Given the description of an element on the screen output the (x, y) to click on. 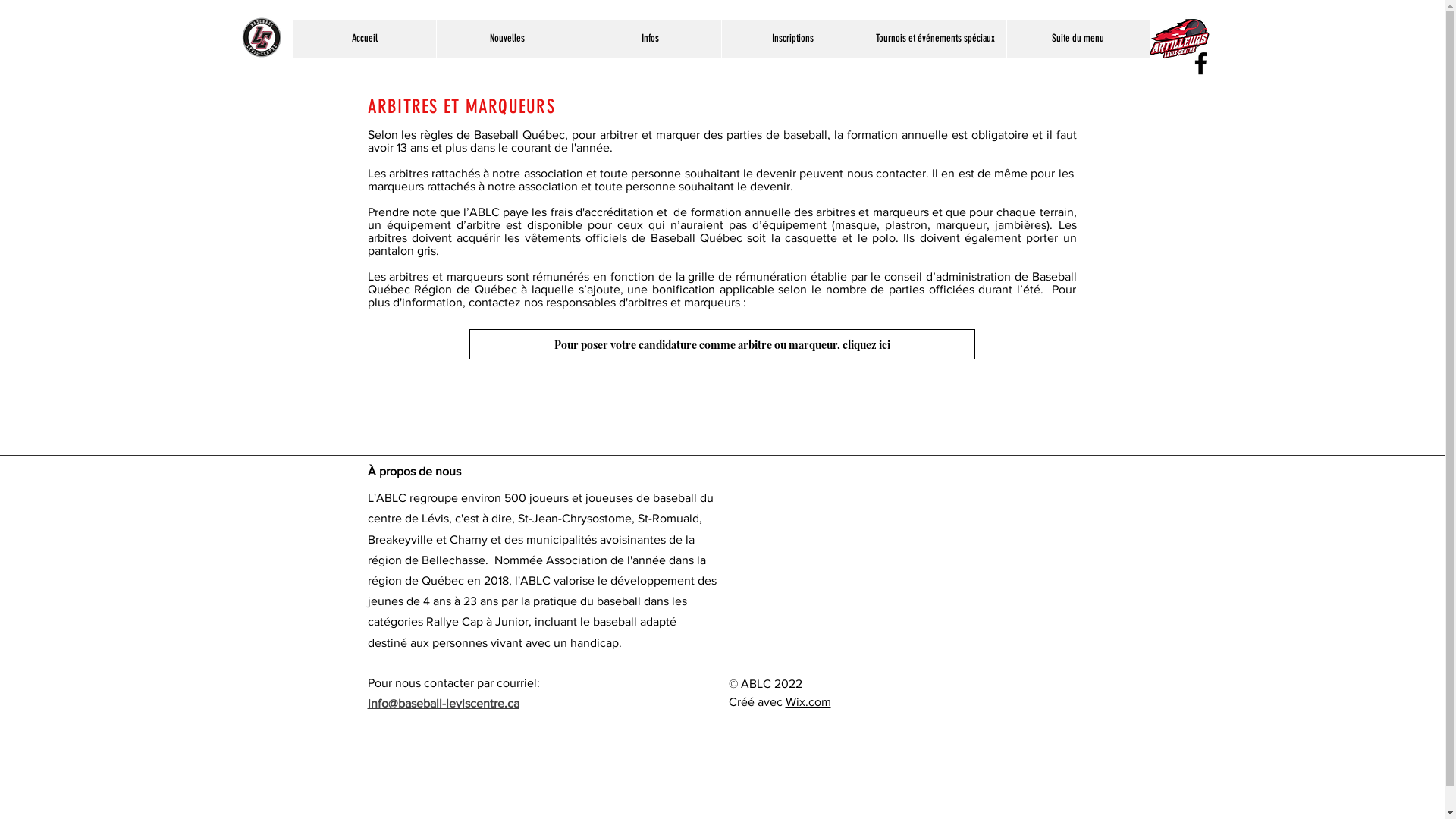
Accueil Element type: text (363, 38)
Infos Element type: text (648, 38)
Wix.com Element type: text (808, 701)
Nouvelles Element type: text (506, 38)
Inscriptions Element type: text (791, 38)
info@baseball-leviscentre.ca Element type: text (442, 702)
Il en  Element type: text (944, 172)
